Given the description of an element on the screen output the (x, y) to click on. 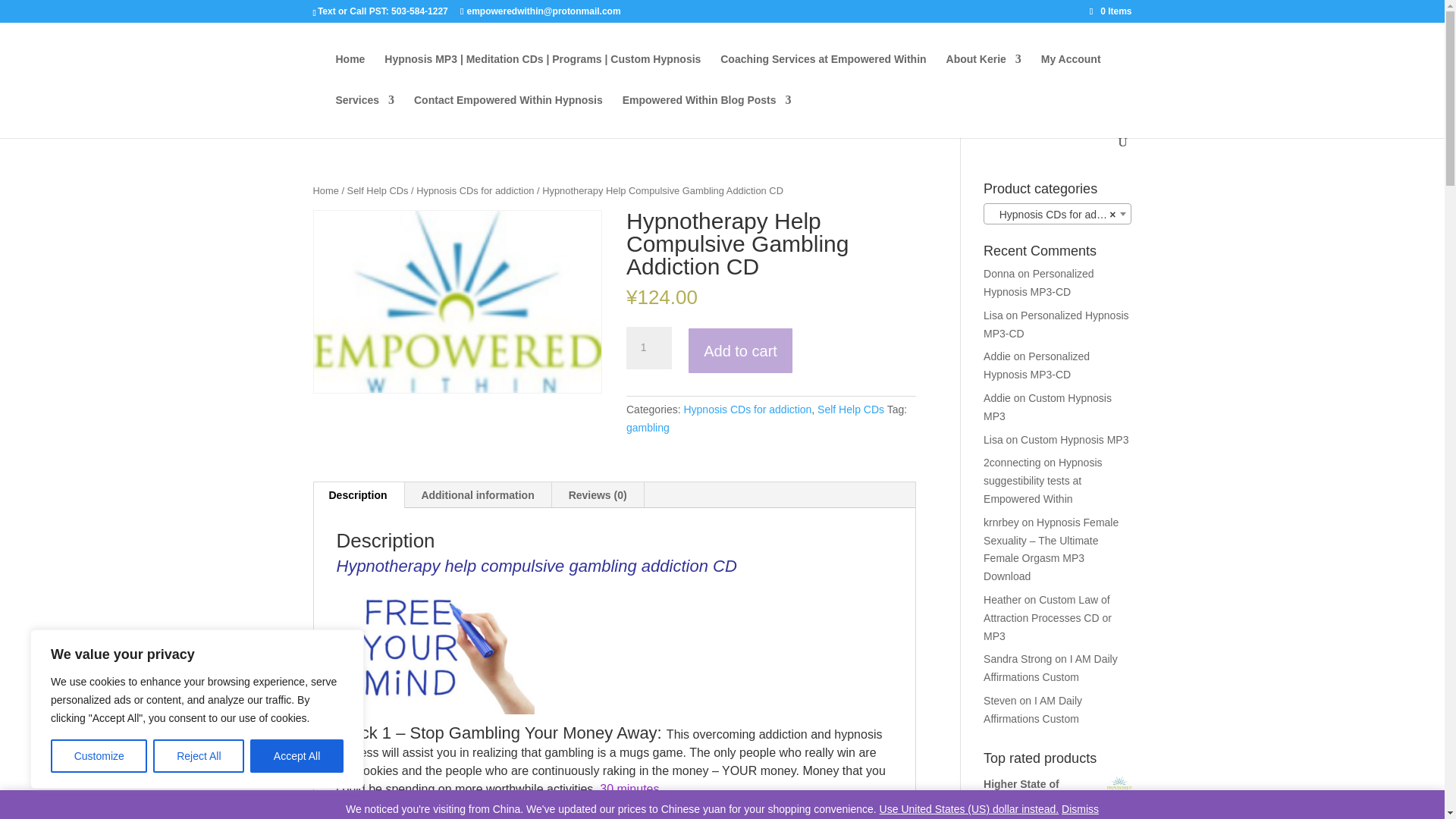
About Kerie (984, 74)
Empowered Within Blog Posts (707, 115)
1 (648, 347)
Contact Empowered Within Hypnosis (507, 115)
0 Items (1110, 10)
Accept All (296, 756)
About Us (984, 74)
My Account (1070, 74)
Reject All (198, 756)
Coaching Services at Empowered Within (823, 74)
Customize (98, 756)
Services (364, 115)
